Given the description of an element on the screen output the (x, y) to click on. 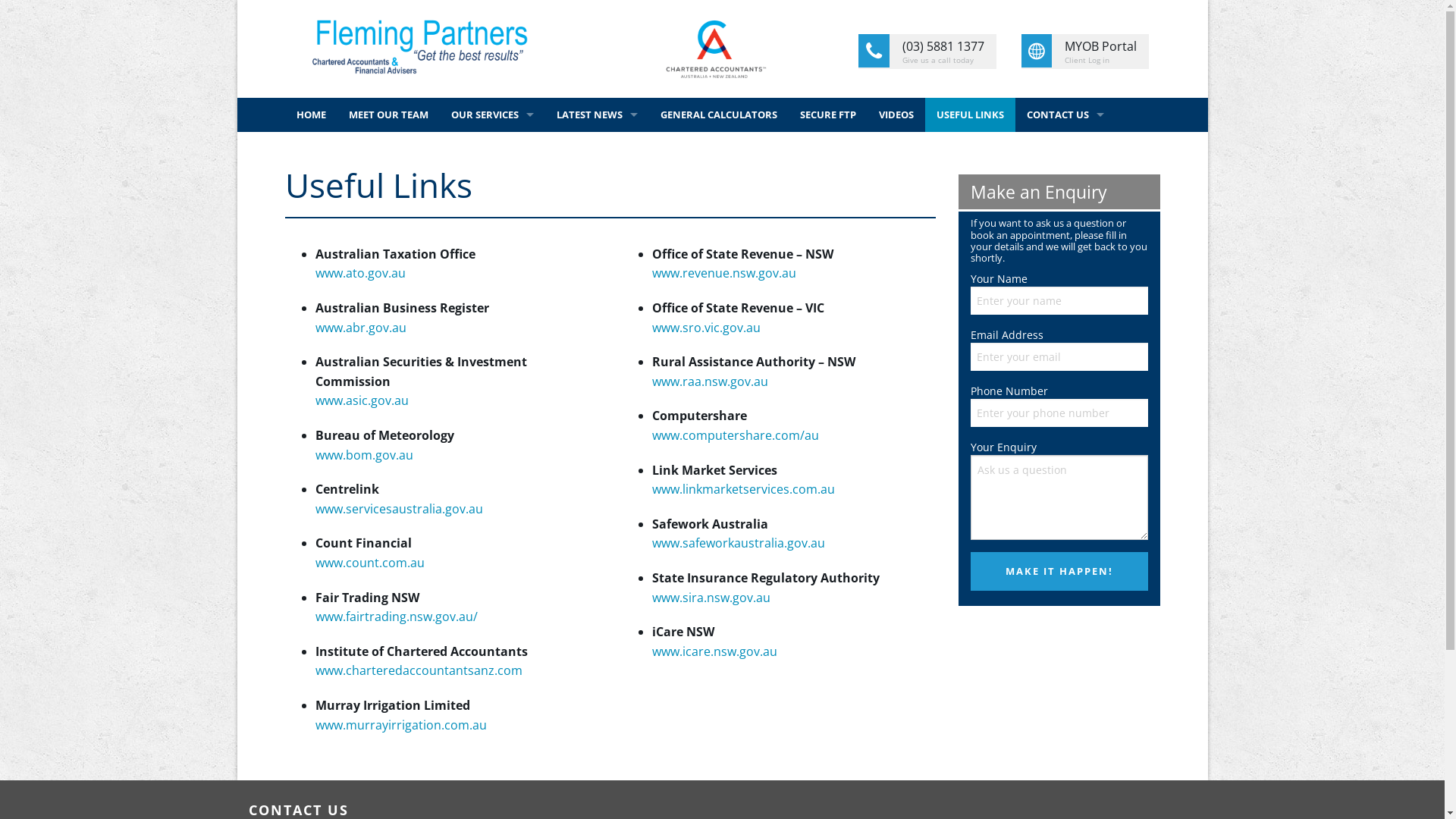
www.bom.gov.au Element type: text (364, 454)
Make it Happen! Element type: text (1059, 571)
SELF-MANAGED SUPERANNUATION FUND SERVICES Element type: text (492, 251)
www.raa.nsw.gov.au Element type: text (710, 381)
OUR SERVICES Element type: text (492, 114)
ACCOUNTING NEWS Element type: text (596, 148)
HOME Element type: text (311, 114)
www.count.com.au Element type: text (369, 562)
www.revenue.nsw.gov.au Element type: text (724, 272)
www.ato.gov.au Element type: text (360, 272)
VIDEOS Element type: text (896, 114)
www.abr.gov.au Element type: text (360, 327)
USEFUL LINKS Element type: text (970, 114)
www.servicesaustralia.gov.au Element type: text (399, 508)
www.computershare.com/au Element type: text (735, 434)
www.icare.nsw.gov.au Element type: text (714, 651)
SECURE FTP Element type: text (827, 114)
FINANCIAL PLANNING Element type: text (492, 183)
www.charteredaccountantsanz.com Element type: text (418, 670)
GENERAL CALCULATORS Element type: text (718, 114)
www.safeworkaustralia.gov.au Element type: text (738, 542)
www.sro.vic.gov.au Element type: text (706, 327)
CONTACT US Element type: text (1064, 114)
LATEST NEWS Element type: text (596, 114)
www.asic.gov.au Element type: text (361, 400)
(03) 5881 1377
Give us a call today Element type: text (927, 51)
FINANCIAL PLANNING NEWS Element type: text (596, 183)
www.fairtrading.nsw.gov.au/ Element type: text (396, 616)
JOIN OUR TEAM Element type: text (1064, 148)
MYOB Portal
Client Log in Element type: text (1085, 51)
MEET OUR TEAM Element type: text (387, 114)
www.murrayirrigation.com.au Element type: text (400, 724)
www.sira.nsw.gov.au Element type: text (711, 597)
TAXATION SERVICE & ADVICE Element type: text (492, 217)
ACCOUNTING SERVICES Element type: text (492, 148)
www.linkmarketservices.com.au Element type: text (743, 488)
